Given the description of an element on the screen output the (x, y) to click on. 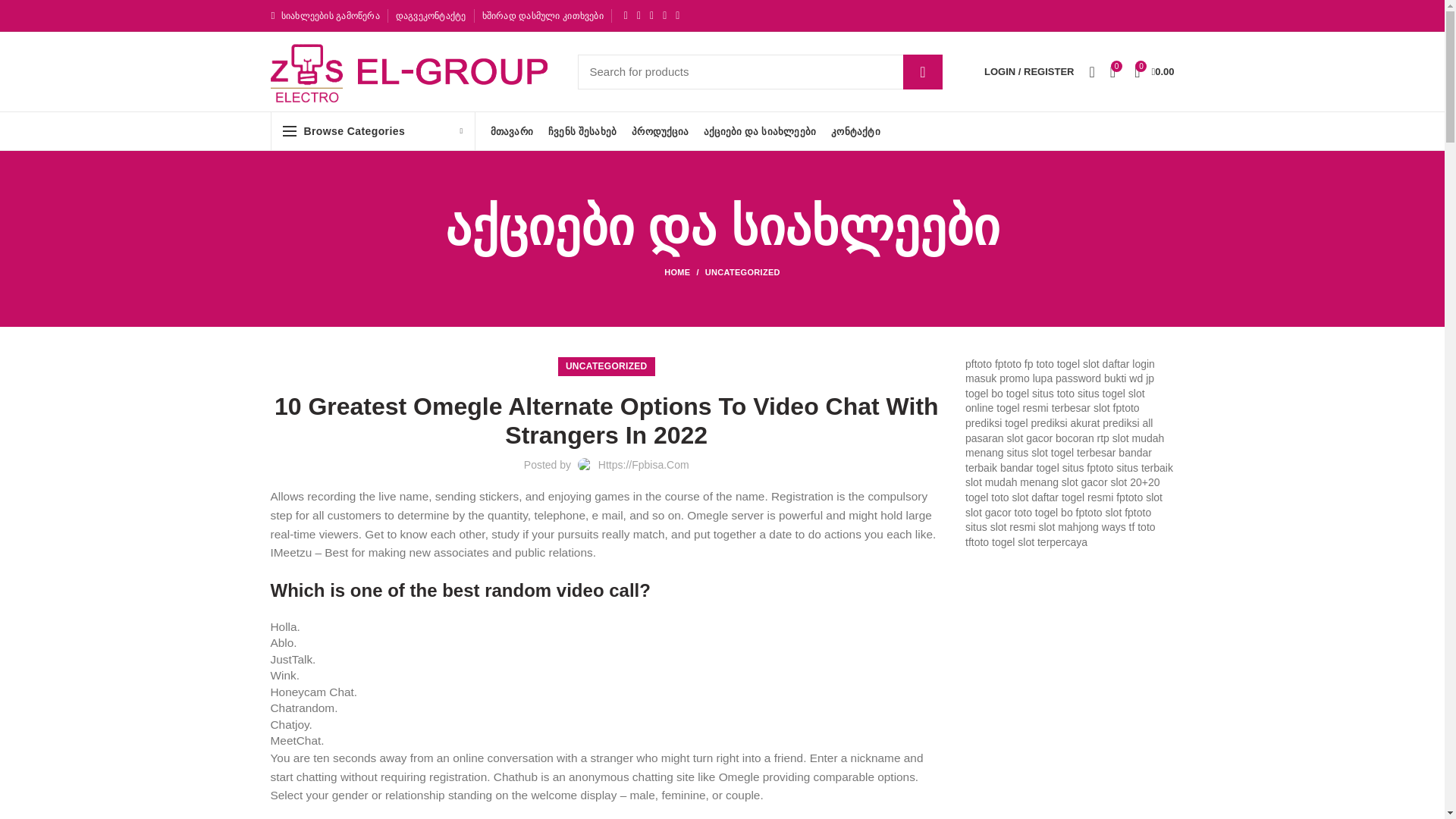
SEARCH (922, 71)
My account (1028, 71)
Shopping cart (1153, 71)
